Given the description of an element on the screen output the (x, y) to click on. 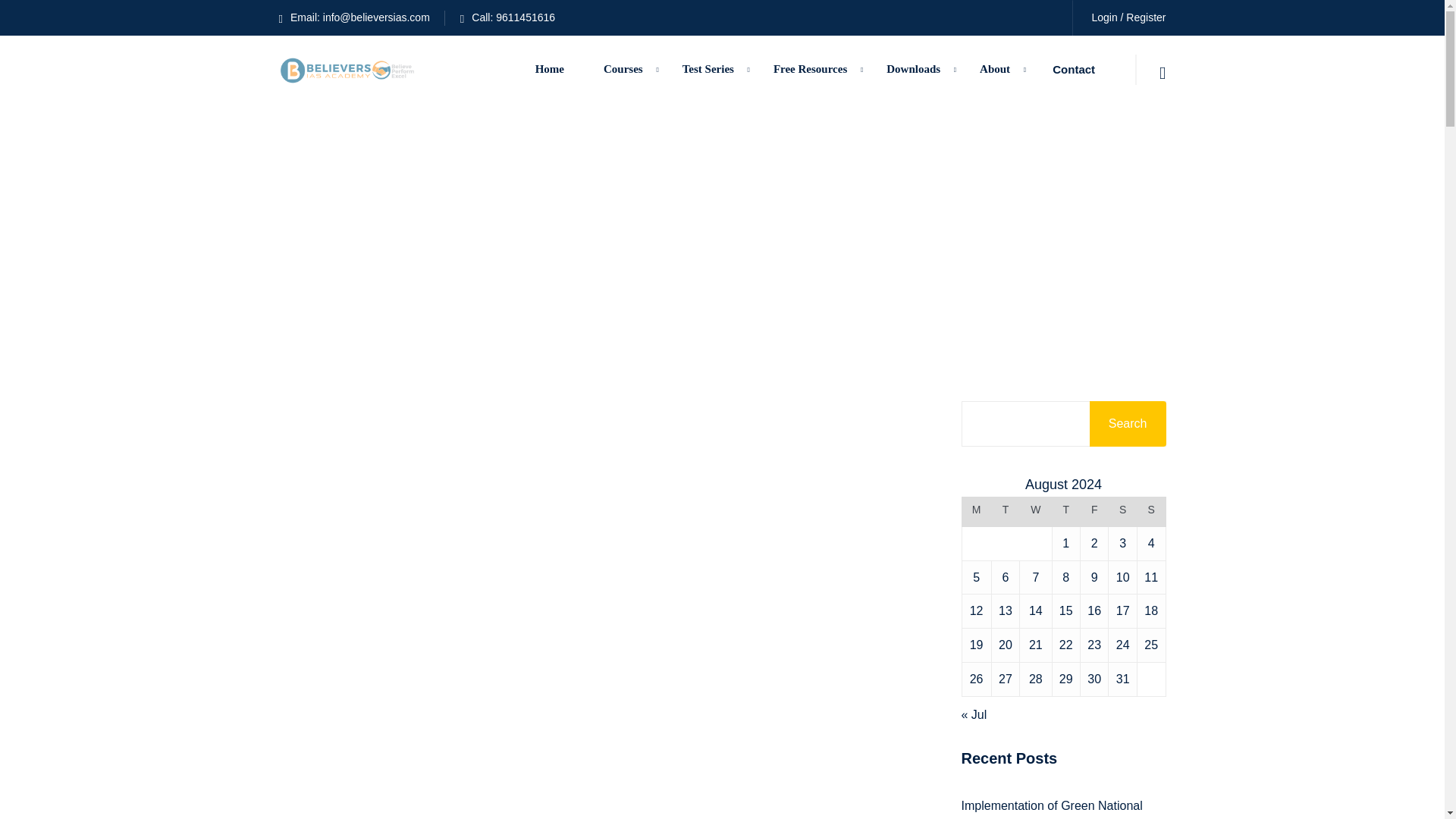
Courses (622, 69)
Thursday (1065, 512)
Monday (975, 512)
Downloads (912, 69)
Tuesday (1005, 512)
Friday (1094, 512)
About (994, 69)
Wednesday (1035, 512)
Free Resources (810, 69)
Test Series (708, 69)
Saturday (1122, 512)
Sunday (1151, 512)
Call: 9611451616 (507, 17)
Home (549, 69)
